Given the description of an element on the screen output the (x, y) to click on. 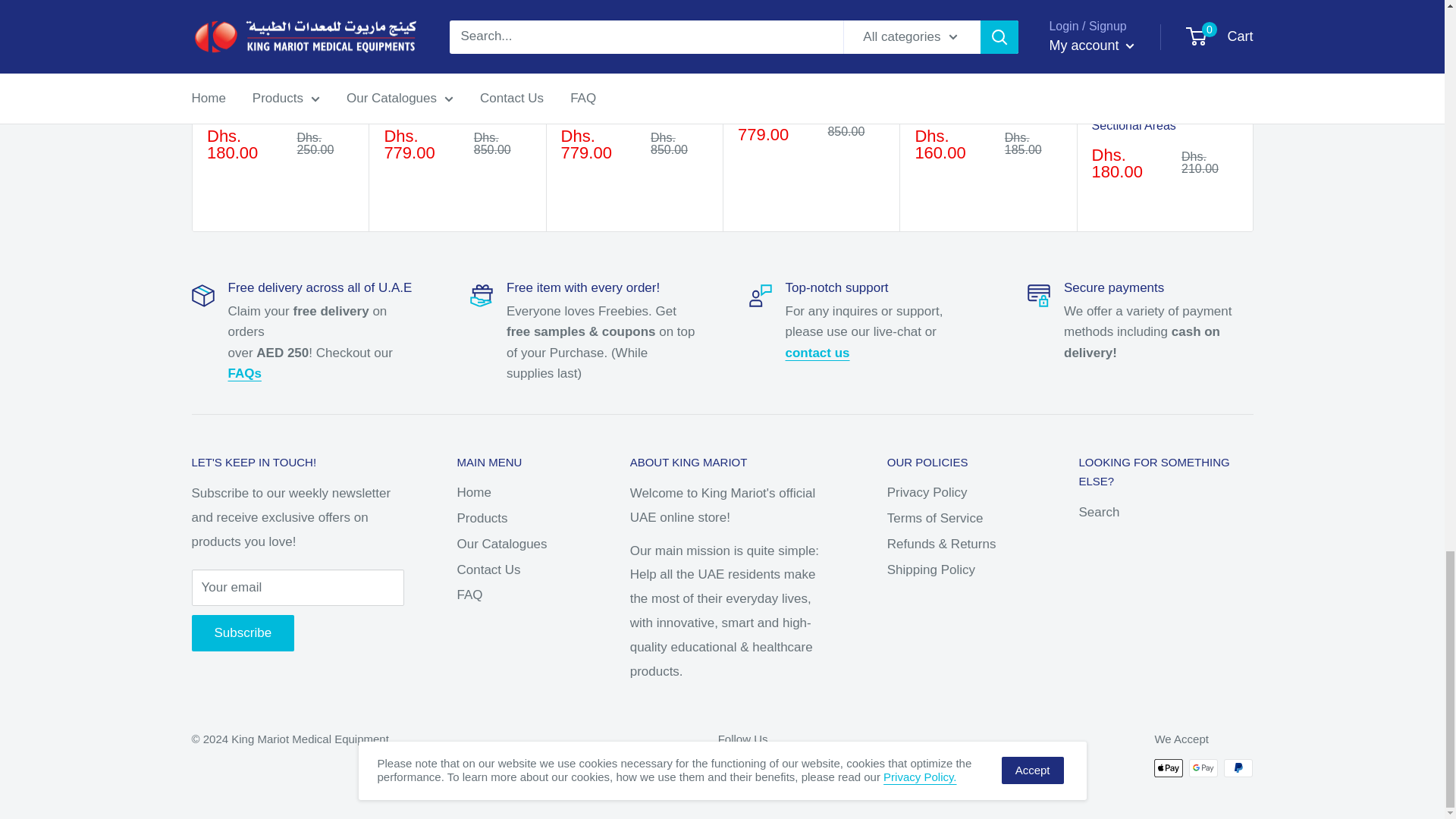
Frequently Asked Questions (243, 373)
Contact us (818, 352)
